Given the description of an element on the screen output the (x, y) to click on. 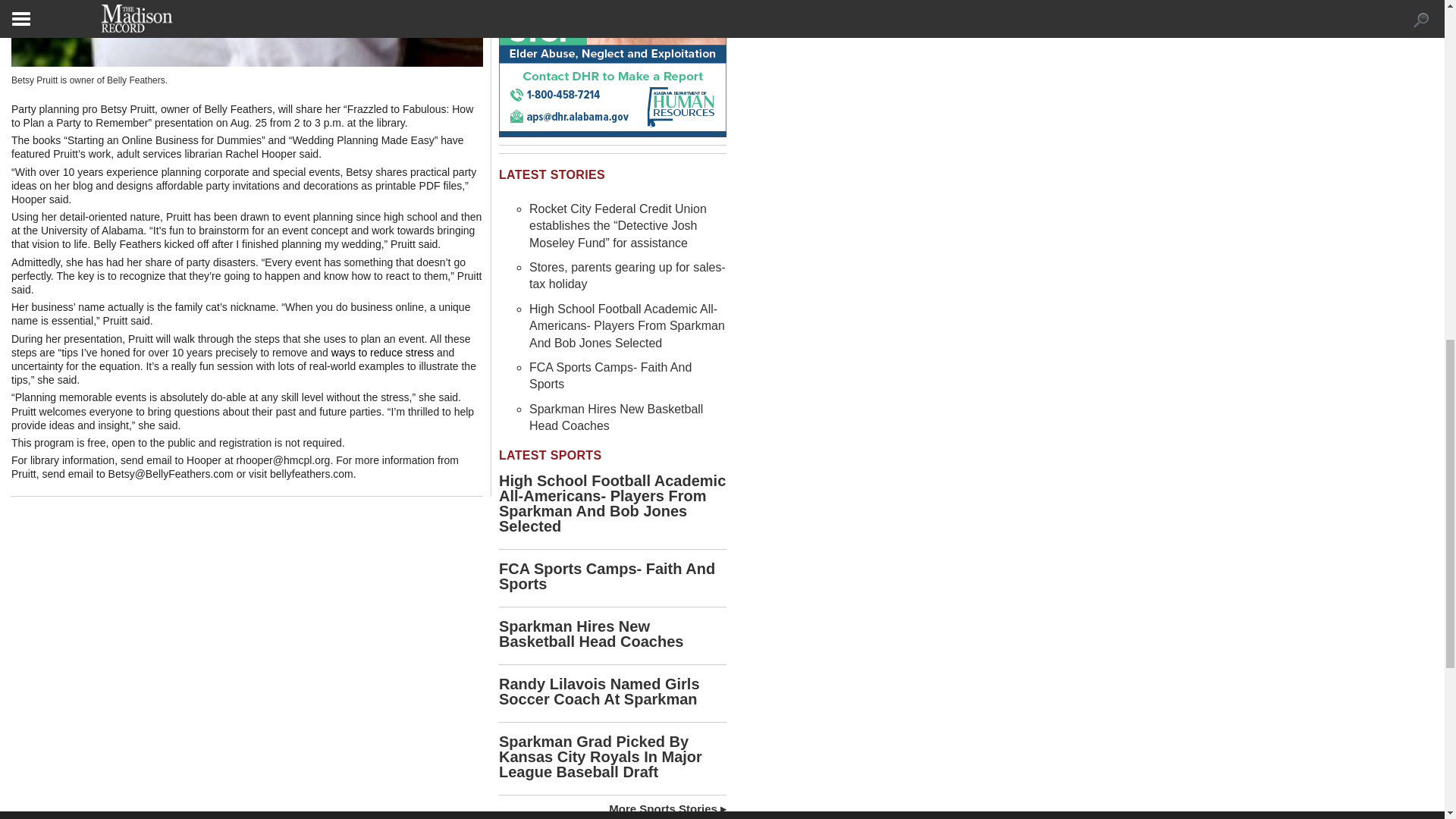
Stores, parents gearing up for sales-tax holiday (627, 275)
BetsyPruitt (247, 33)
ways to reduce stress (382, 352)
